Given the description of an element on the screen output the (x, y) to click on. 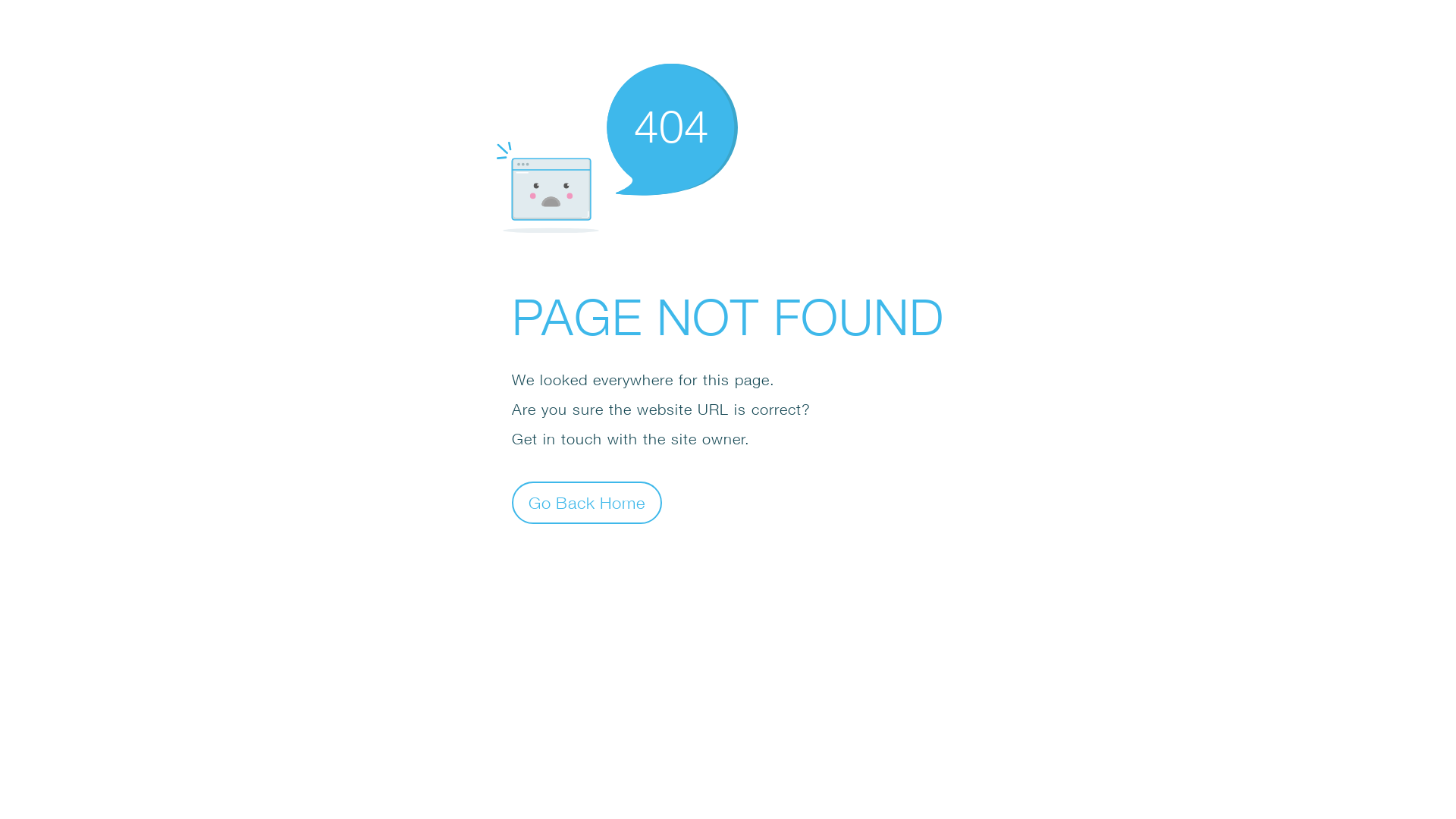
Go Back Home Element type: text (586, 502)
